Given the description of an element on the screen output the (x, y) to click on. 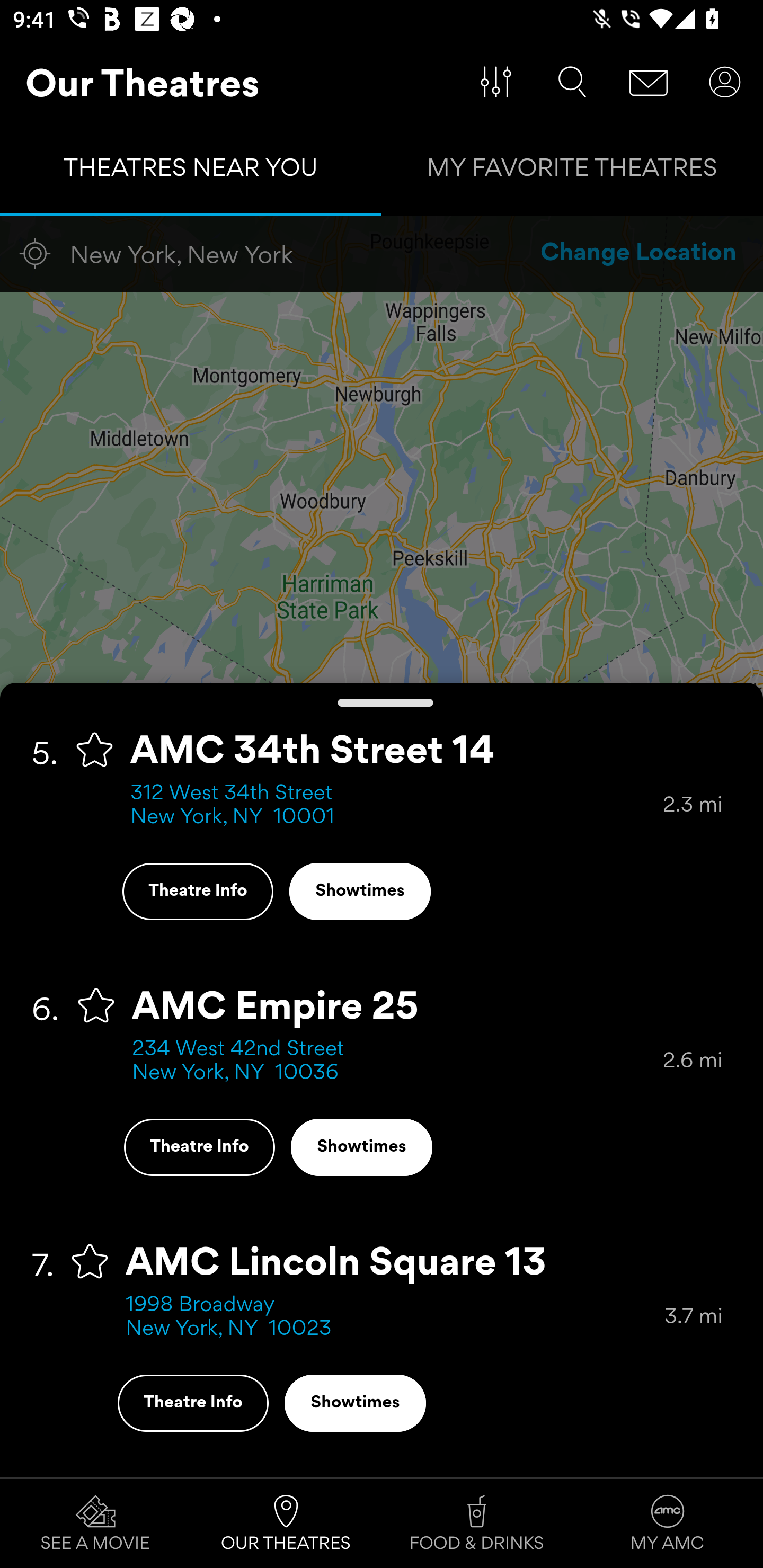
Filter Theatres (495, 82)
Search (572, 82)
Message Center (648, 82)
User Account (724, 82)
THEATRES NEAR YOU
Tab 1 of 2 (190, 171)
MY FAVORITE THEATRES
Tab 2 of 2 (572, 171)
312 West 34th Street  
New York, NY  10001 (396, 805)
Theatre Info (197, 890)
Showtimes (360, 890)
234 West 42nd Street  
New York, NY  10036 (397, 1061)
Theatre Info (198, 1146)
Showtimes (361, 1146)
1998 Broadway  
New York, NY  10023 (394, 1316)
Theatre Info (192, 1402)
Showtimes (354, 1402)
SEE A MOVIE
Tab 1 of 4 (95, 1523)
OUR THEATRES
Tab 2 of 4 (285, 1523)
FOOD & DRINKS
Tab 3 of 4 (476, 1523)
MY AMC
Tab 4 of 4 (667, 1523)
